Given the description of an element on the screen output the (x, y) to click on. 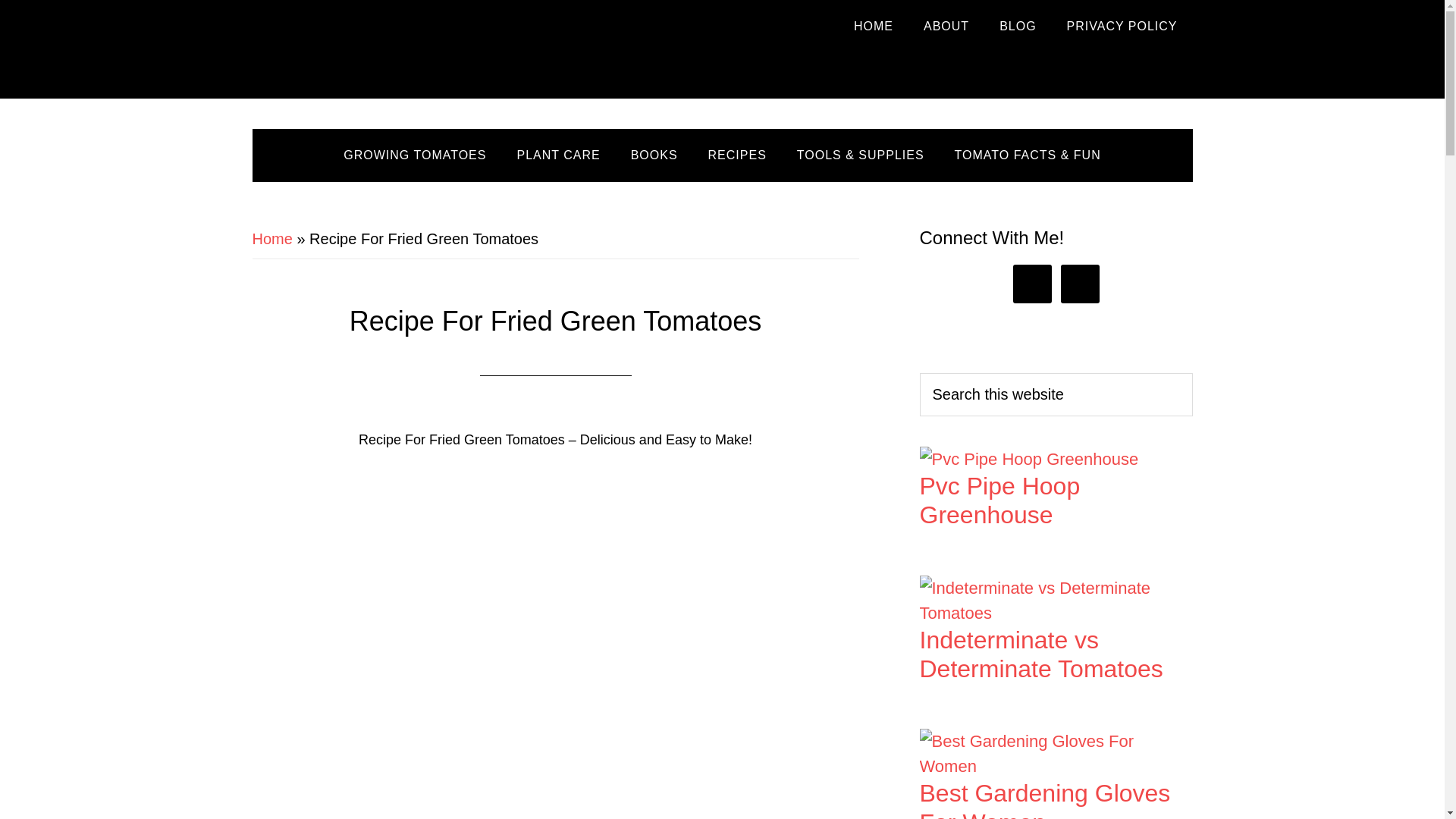
Home (271, 238)
GROWING TOMATOES (414, 154)
Pvc Pipe Hoop Greenhouse (1028, 458)
RECIPES (737, 154)
GROWING TOMATOES 4 YOU (387, 49)
Growing Tomatoes  (414, 154)
Tomato Recipes (737, 154)
Gardening Books (654, 154)
ABOUT (946, 26)
BOOKS (654, 154)
HOME (873, 26)
PLANT CARE (557, 154)
PRIVACY POLICY (1121, 26)
About Me (946, 26)
